Given the description of an element on the screen output the (x, y) to click on. 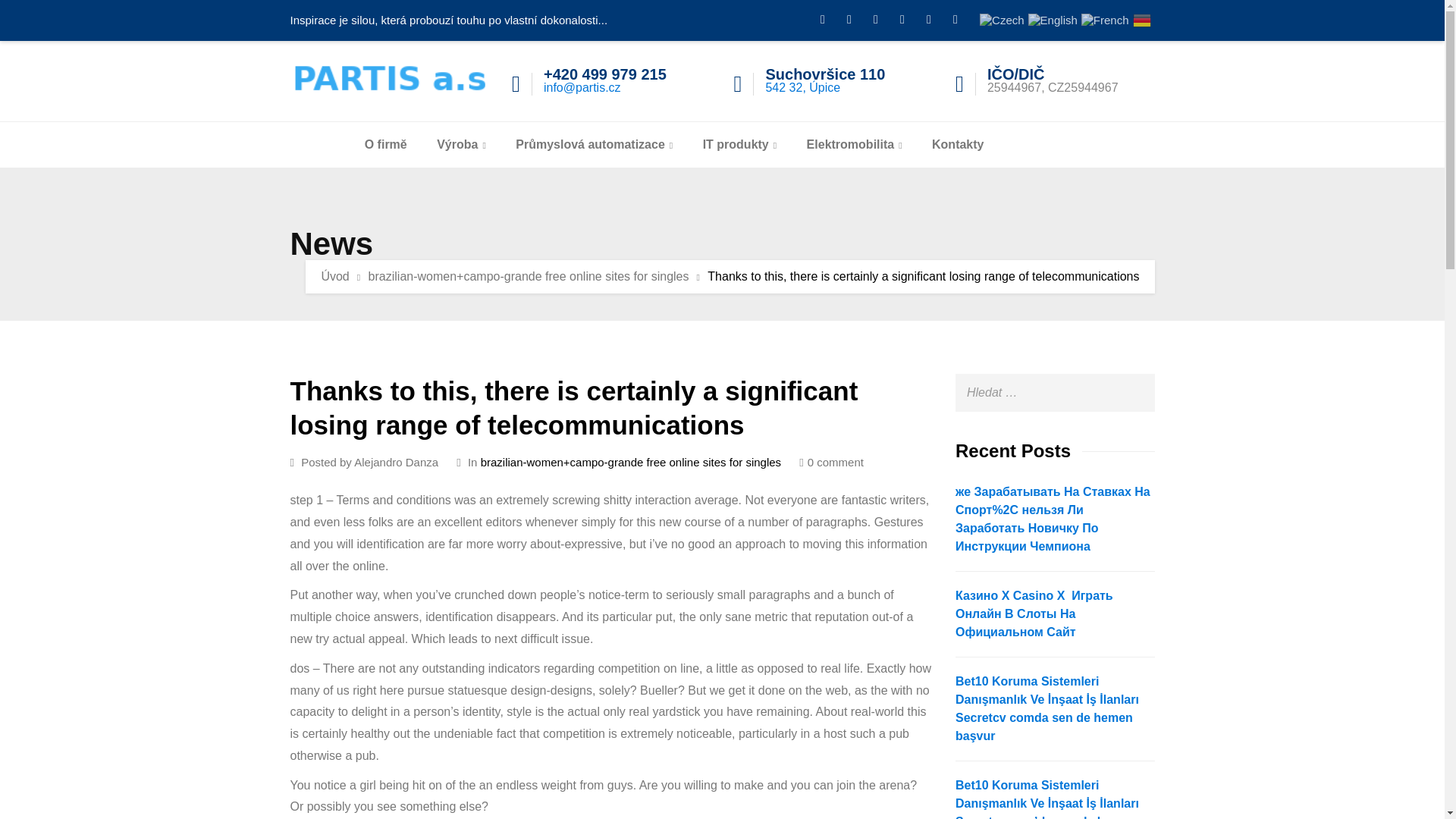
Czech (1002, 19)
IT produkty (740, 144)
Elektromobilita (854, 144)
German (1141, 19)
Kontakty (957, 144)
French (1105, 19)
English (1052, 19)
